Given the description of an element on the screen output the (x, y) to click on. 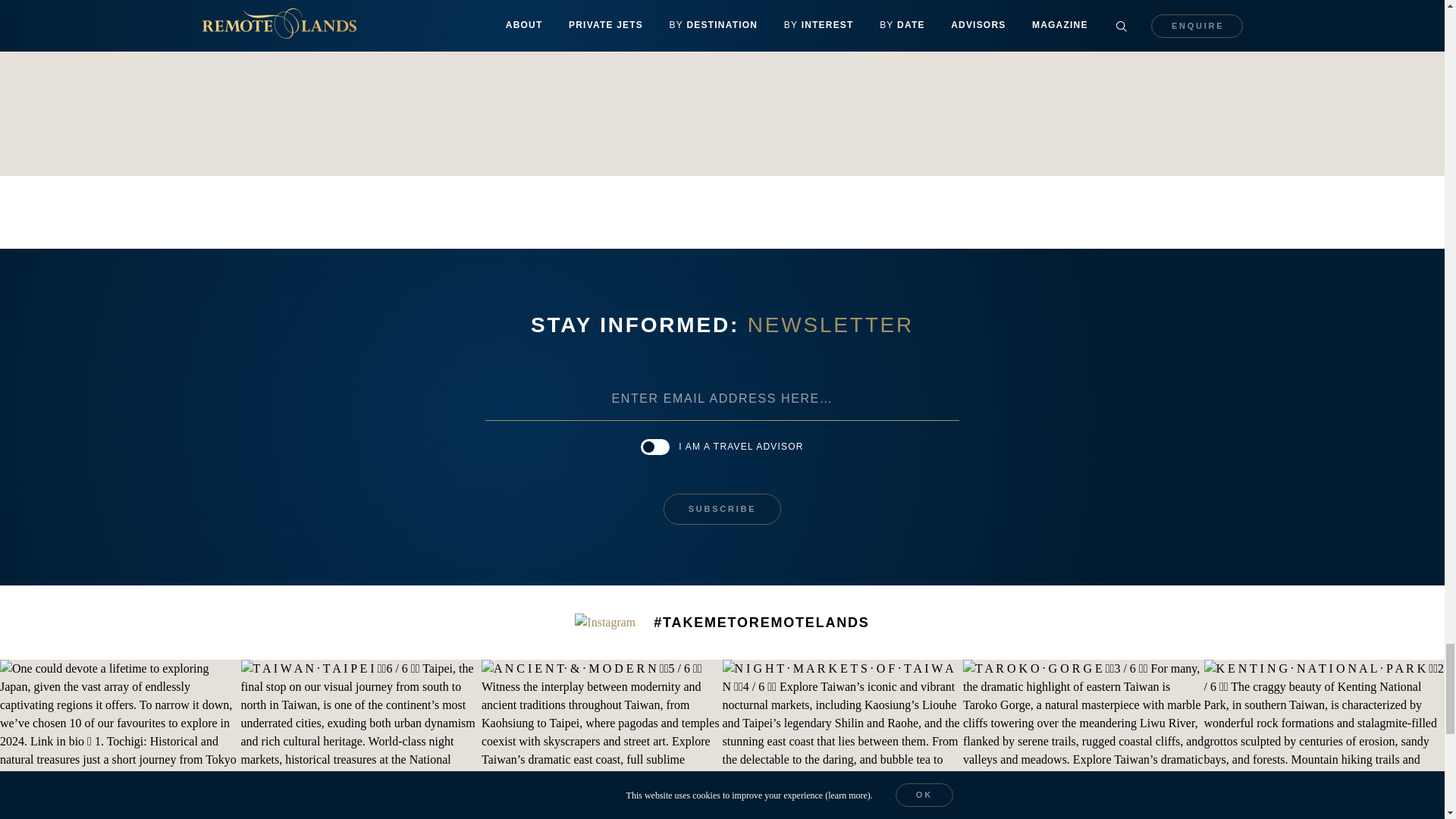
true (654, 446)
